Given the description of an element on the screen output the (x, y) to click on. 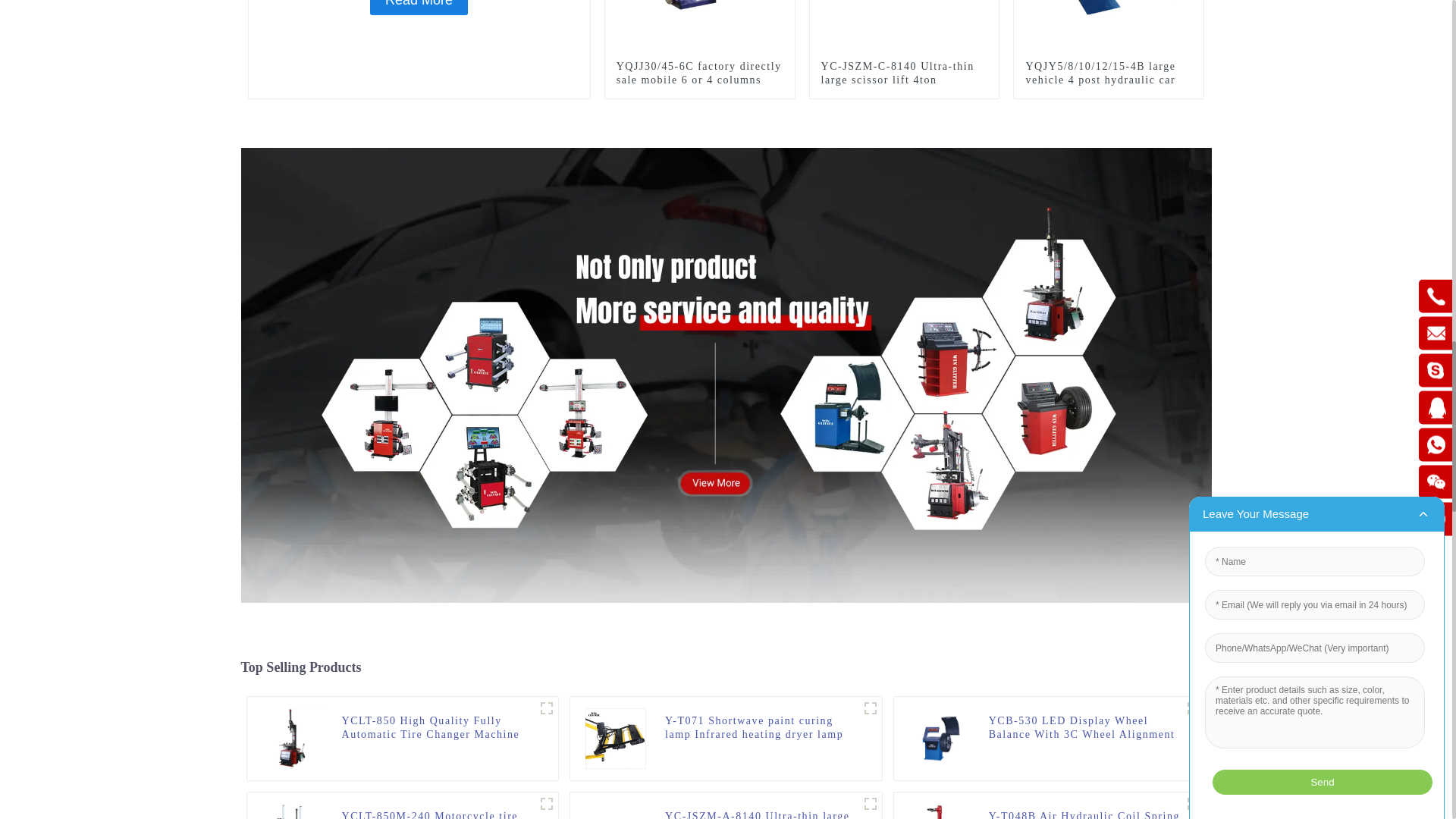
YC-JSZM-C-8140 Ultra-thin large scissor lift 4ton  (904, 72)
Read More (418, 7)
